Given the description of an element on the screen output the (x, y) to click on. 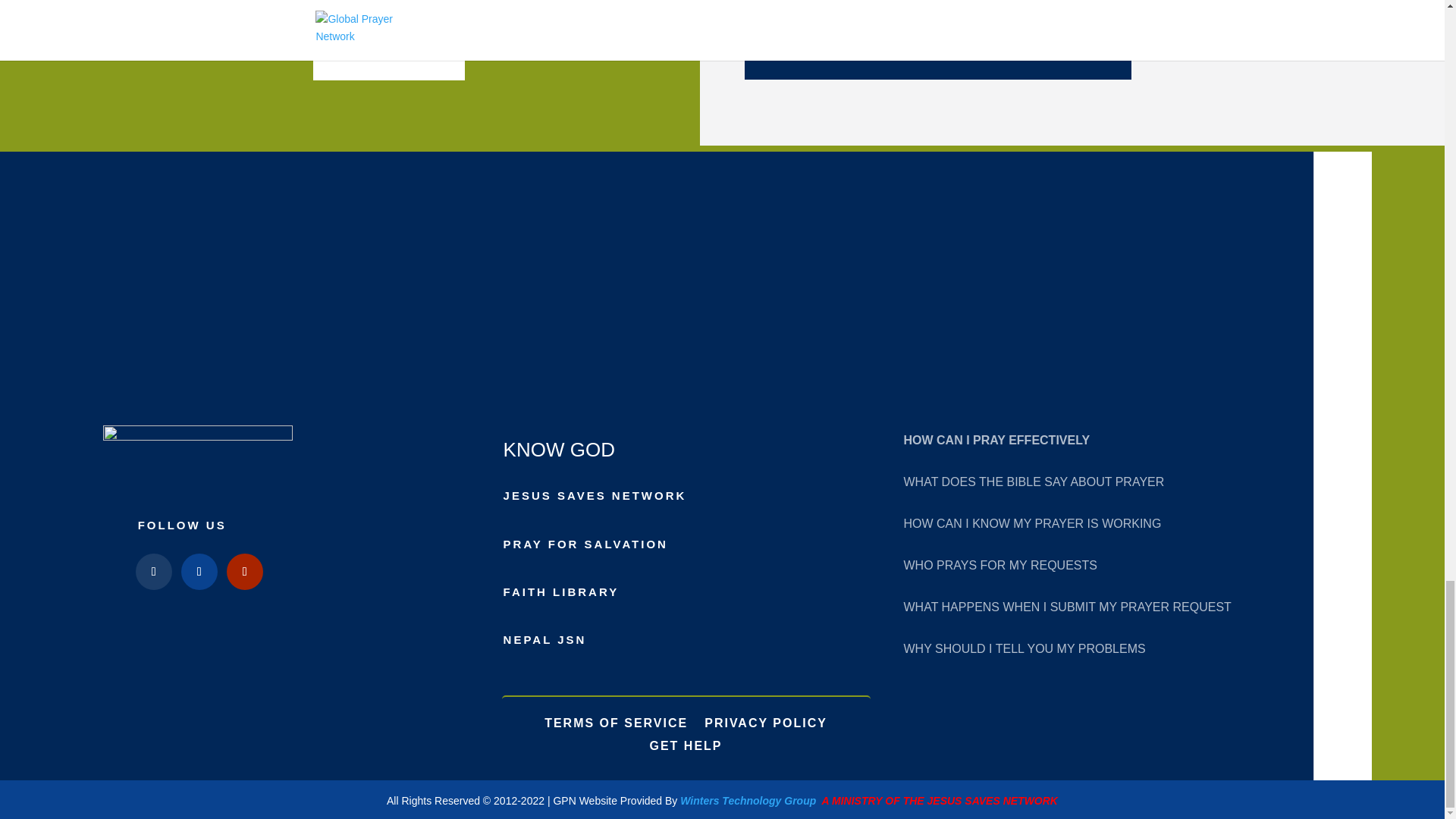
GPN Logo (197, 460)
PRIVACY POLICY (765, 719)
Follow on X (198, 571)
Follow on Facebook (153, 571)
TERMS OF SERVICE (615, 719)
SUBSCRIBE (937, 55)
Follow on Youtube (245, 571)
CONTACT US (388, 55)
GET HELP (685, 742)
